Given the description of an element on the screen output the (x, y) to click on. 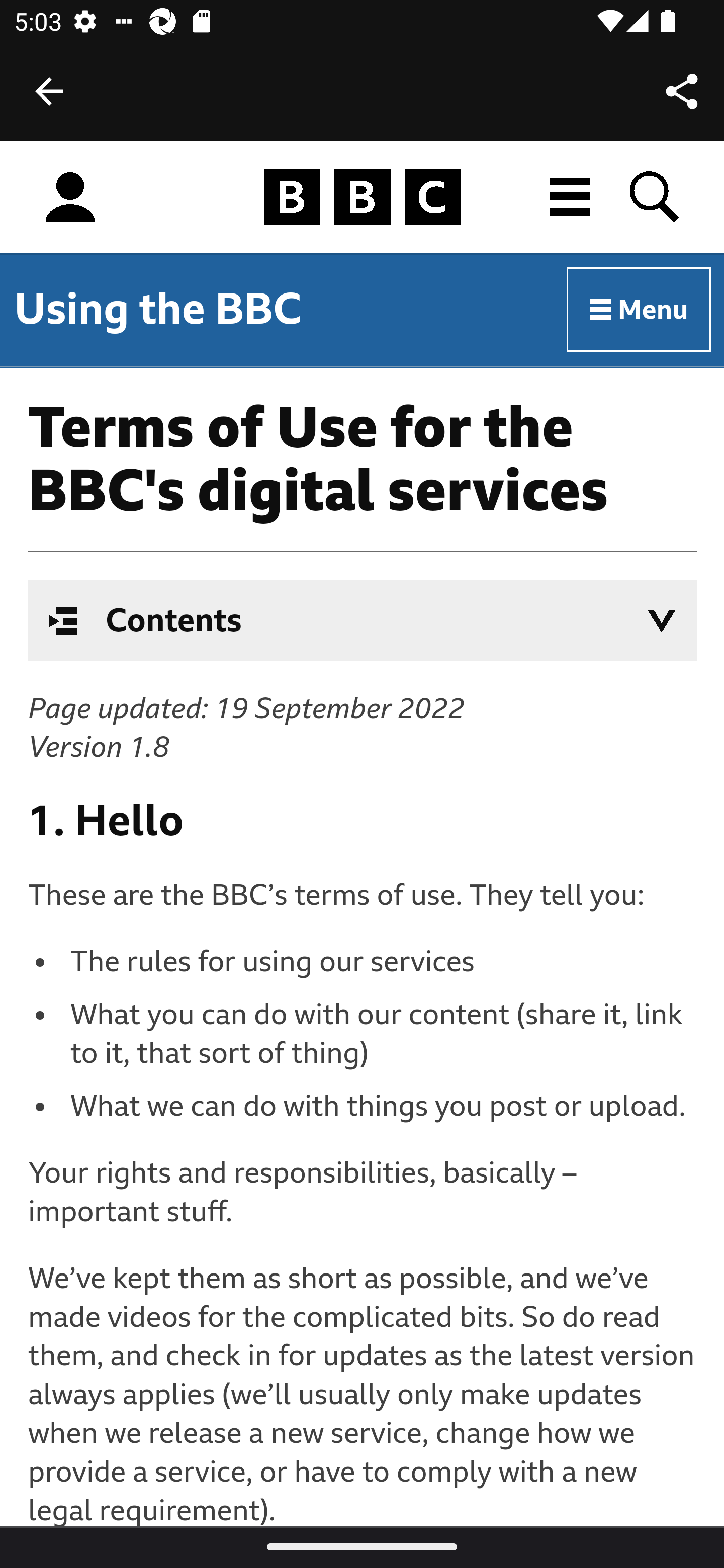
Back (49, 91)
Share (681, 90)
All BBC destinations menu (570, 197)
Search BBC (655, 197)
Sign in (70, 198)
Homepage (361, 198)
Menu (639, 310)
Using the BBC (157, 308)
Open in-page navigation (661, 620)
